Given the description of an element on the screen output the (x, y) to click on. 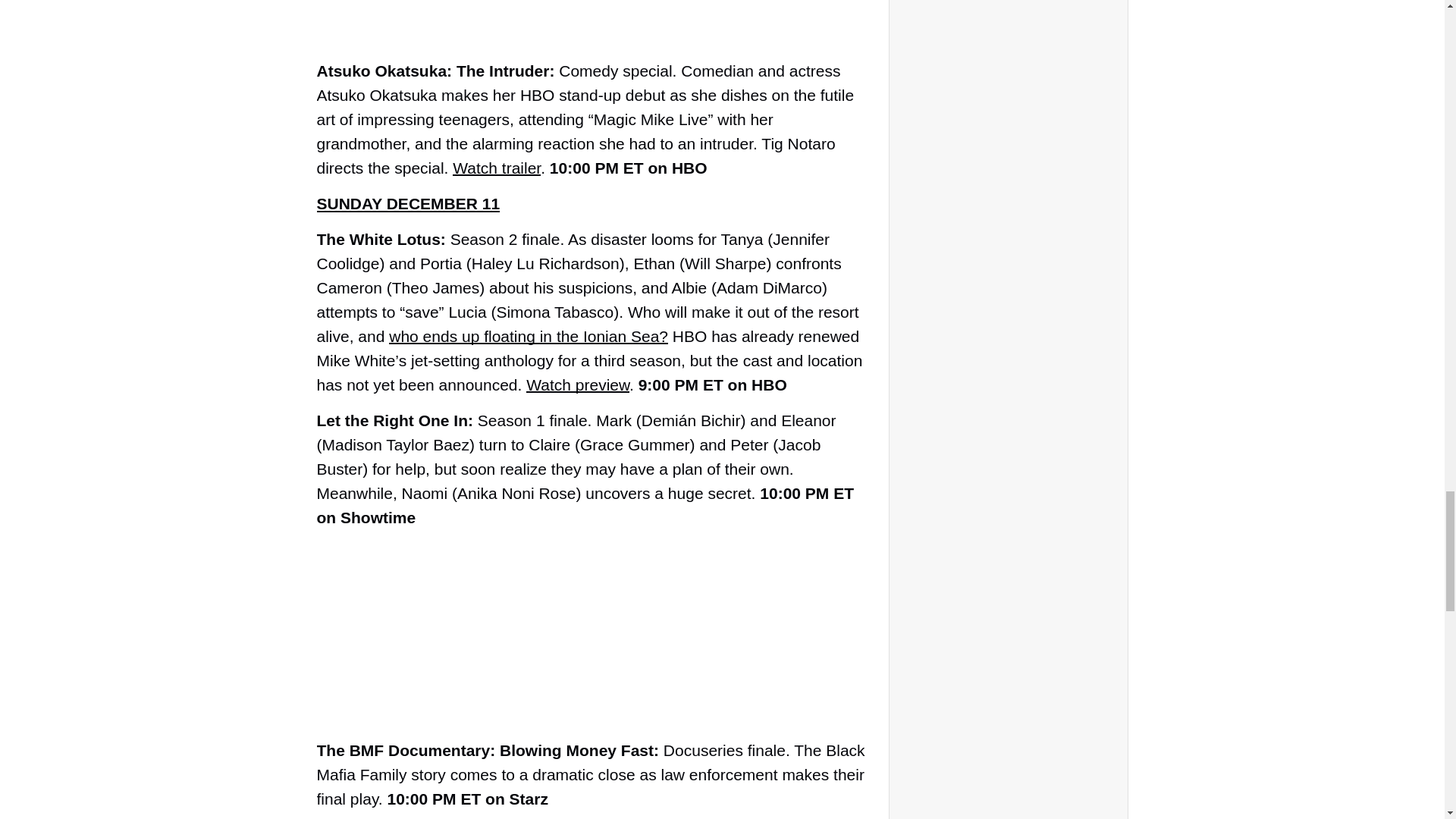
who ends up floating in the Ionian Sea? (528, 335)
Watch preview (576, 384)
Watch trailer (496, 167)
